Given the description of an element on the screen output the (x, y) to click on. 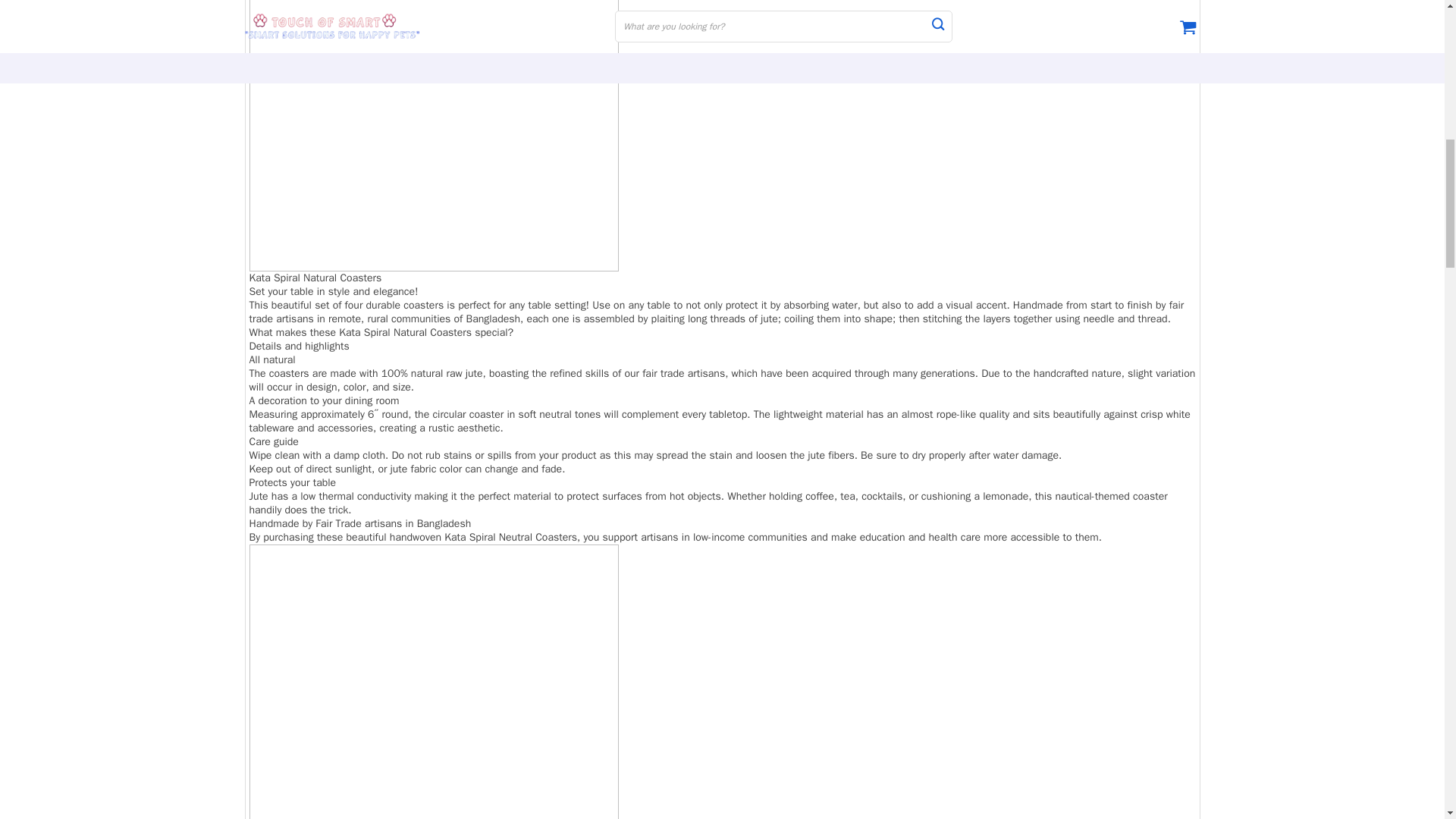
Mask Group (432, 681)
